Given the description of an element on the screen output the (x, y) to click on. 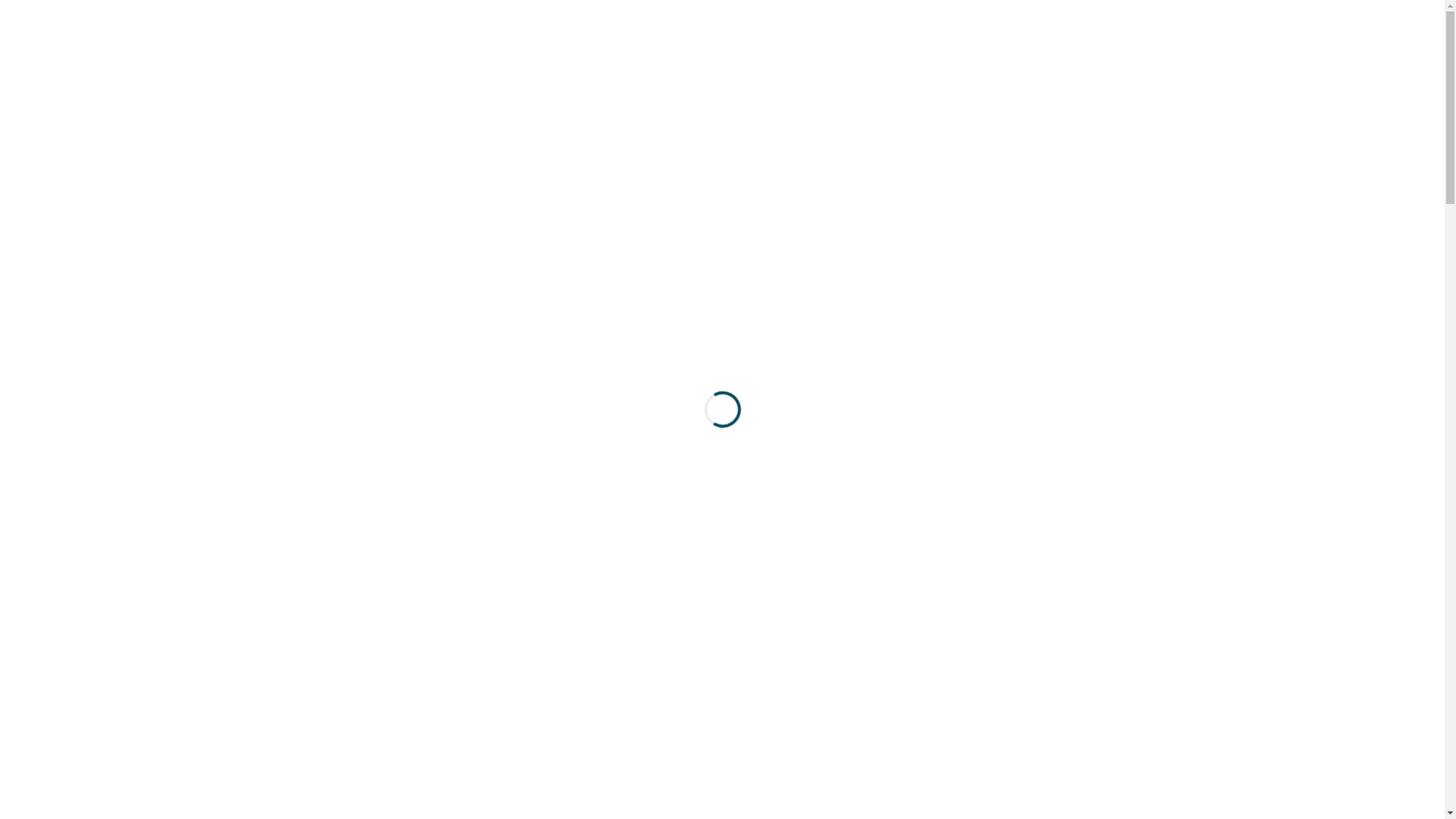
GET IN TOUCH Element type: text (1002, 37)
NEWS Element type: text (797, 37)
MORE Element type: text (1109, 37)
HOME Element type: text (721, 37)
 LEGAL TECH HELPER Element type: text (426, 37)
ABOUT US Element type: text (886, 37)
